Given the description of an element on the screen output the (x, y) to click on. 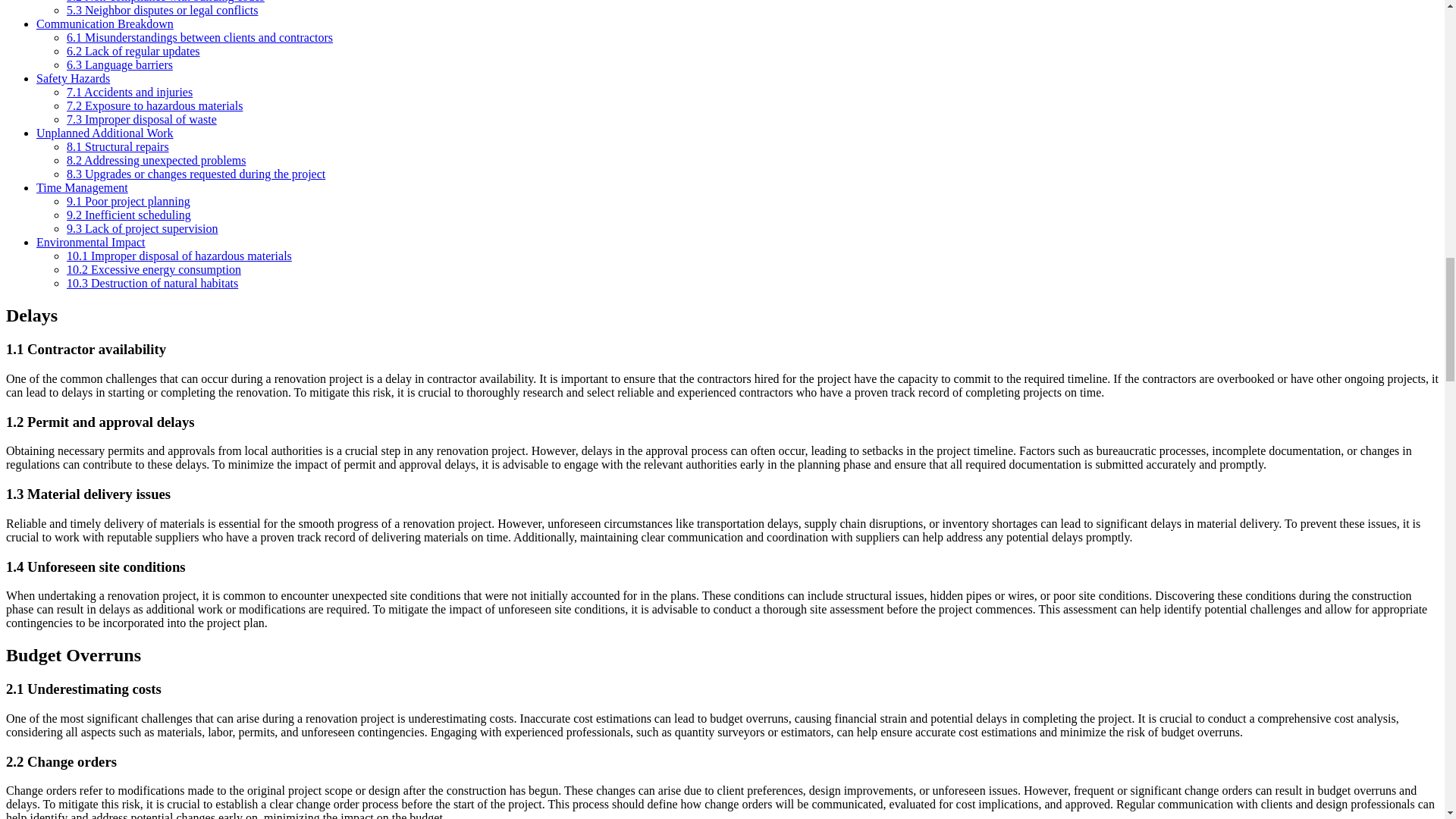
Communication Breakdown (104, 23)
Safety Hazards (73, 78)
5.3 Neighbor disputes or legal conflicts (161, 10)
8.1 Structural repairs (117, 146)
7.1 Accidents and injuries (129, 91)
6.1 Misunderstandings between clients and contractors (199, 37)
6.3 Language barriers (119, 64)
5.2 Non-compliance with building codes (165, 1)
6.2 Lack of regular updates (132, 51)
7.3 Improper disposal of waste (141, 119)
